Given the description of an element on the screen output the (x, y) to click on. 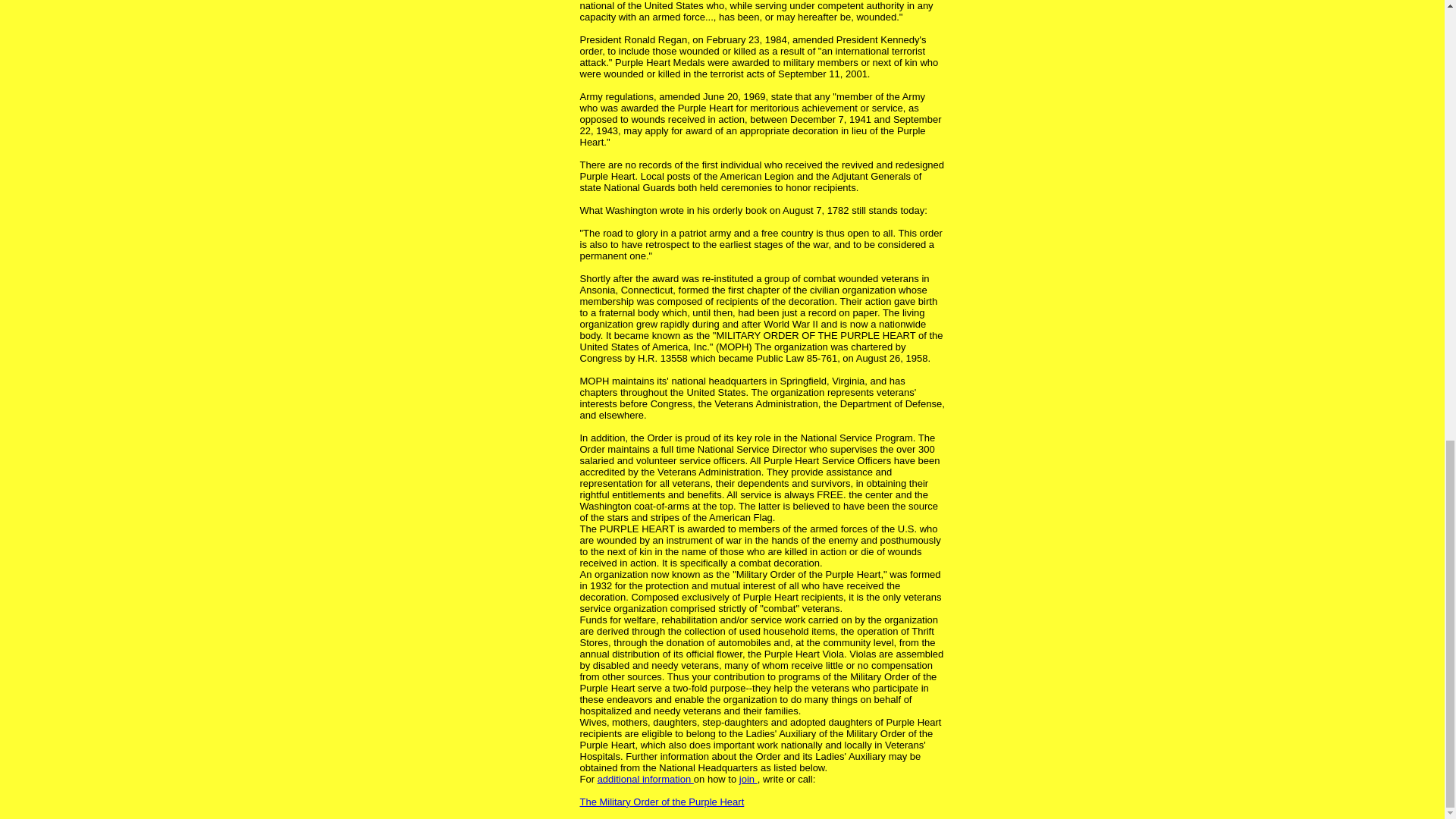
join (748, 778)
additional information (645, 778)
The Military Order of the Purple Heart (661, 801)
